Given the description of an element on the screen output the (x, y) to click on. 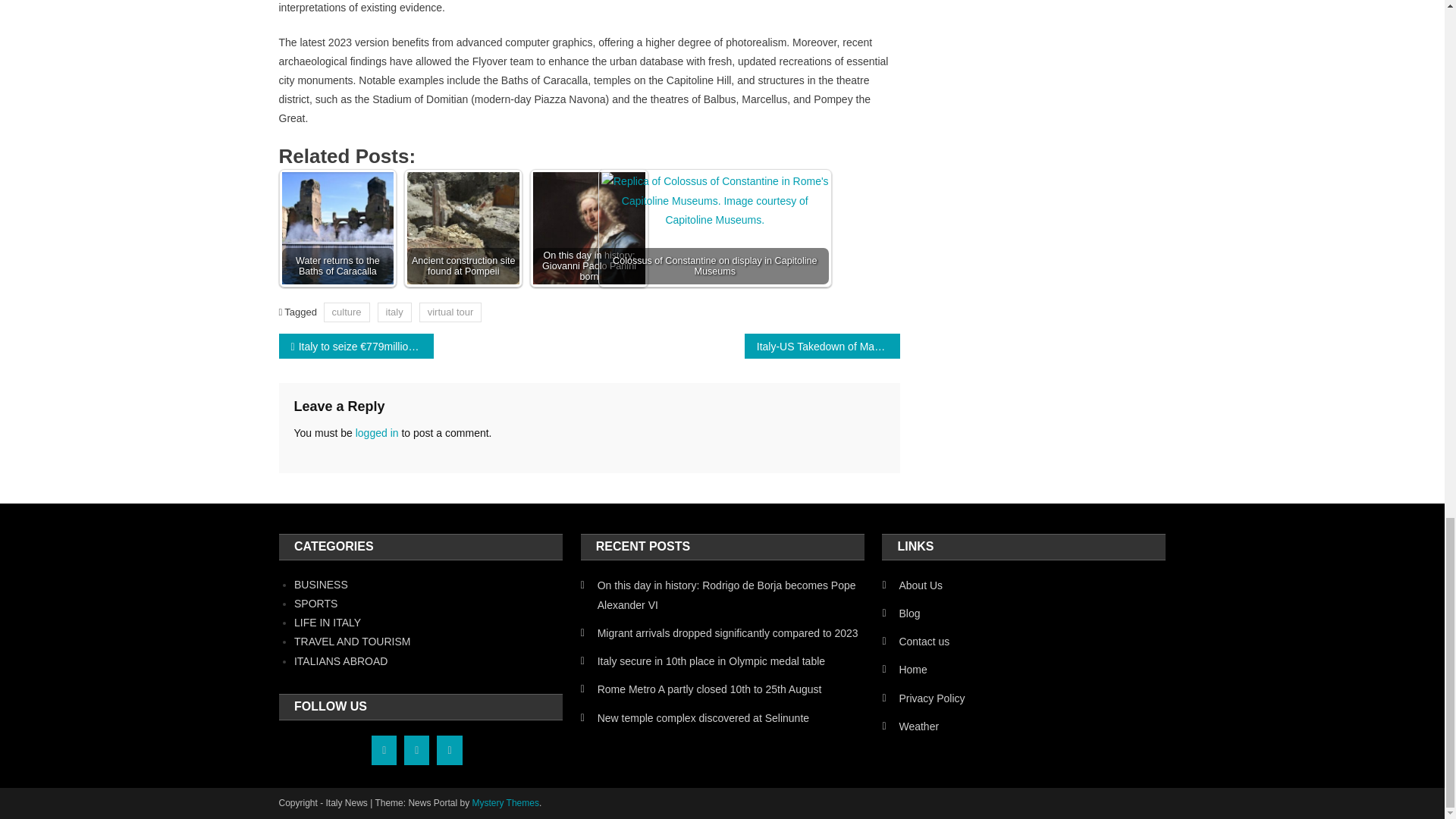
Ancient construction site found at Pompeii (462, 227)
Ancient construction site found at Pompeii (463, 227)
On this day in history: Giovanni Paolo Panini born (588, 227)
Water returns to the Baths of Caracalla (338, 227)
Colossus of Constantine on display in Capitoline Museums (714, 285)
Water returns to the Baths of Caracalla (337, 227)
On this day in history: Giovanni Paolo Panini born (589, 227)
